Given the description of an element on the screen output the (x, y) to click on. 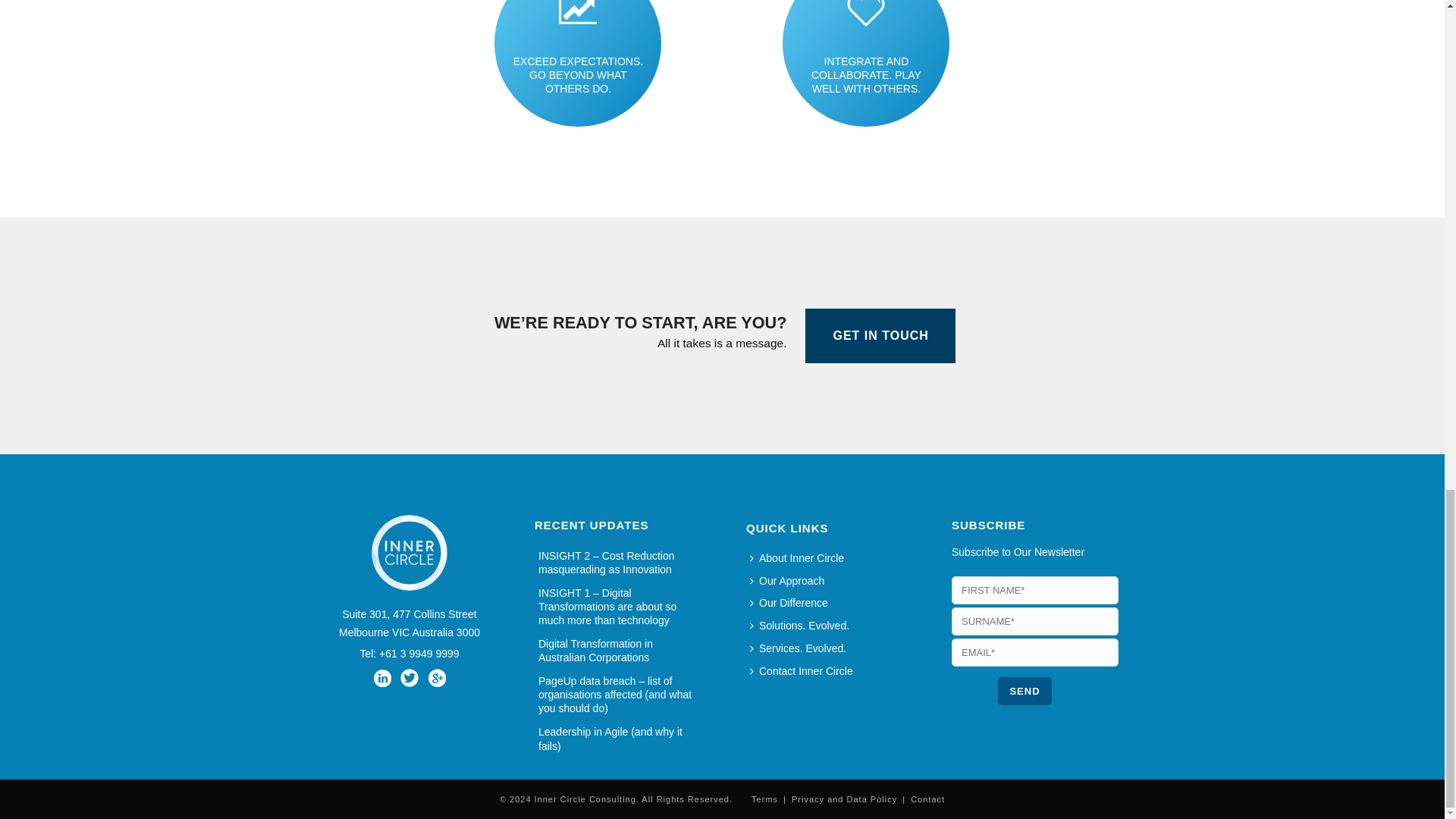
Send (1024, 691)
GET IN TOUCH (880, 335)
